Given the description of an element on the screen output the (x, y) to click on. 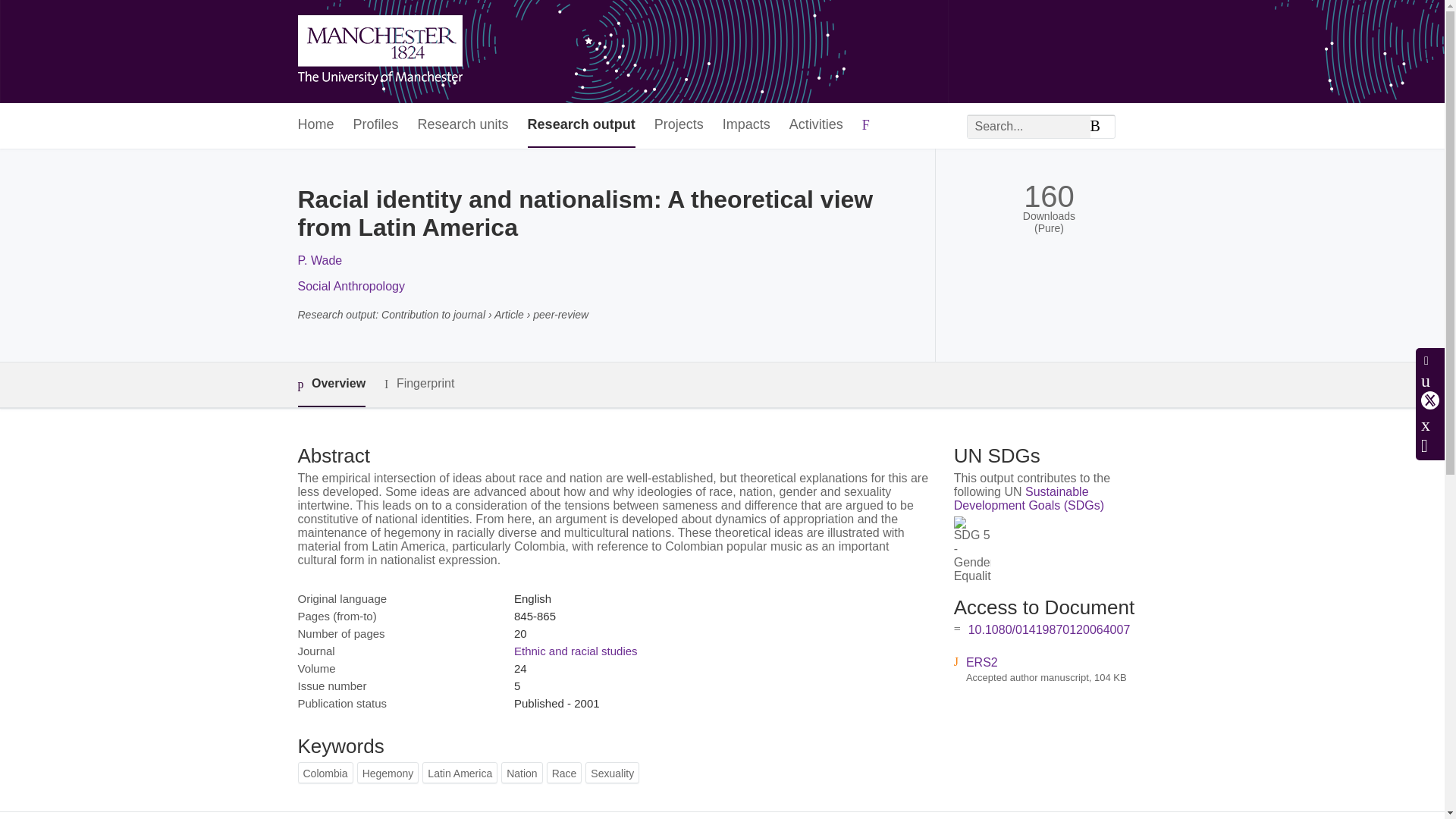
P. Wade (319, 259)
Overview (331, 384)
Projects (678, 125)
Research output (580, 125)
Impacts (746, 125)
Research Explorer The University of Manchester Home (379, 51)
Ethnic and racial studies (575, 650)
Social Anthropology (350, 286)
Activities (816, 125)
